Given the description of an element on the screen output the (x, y) to click on. 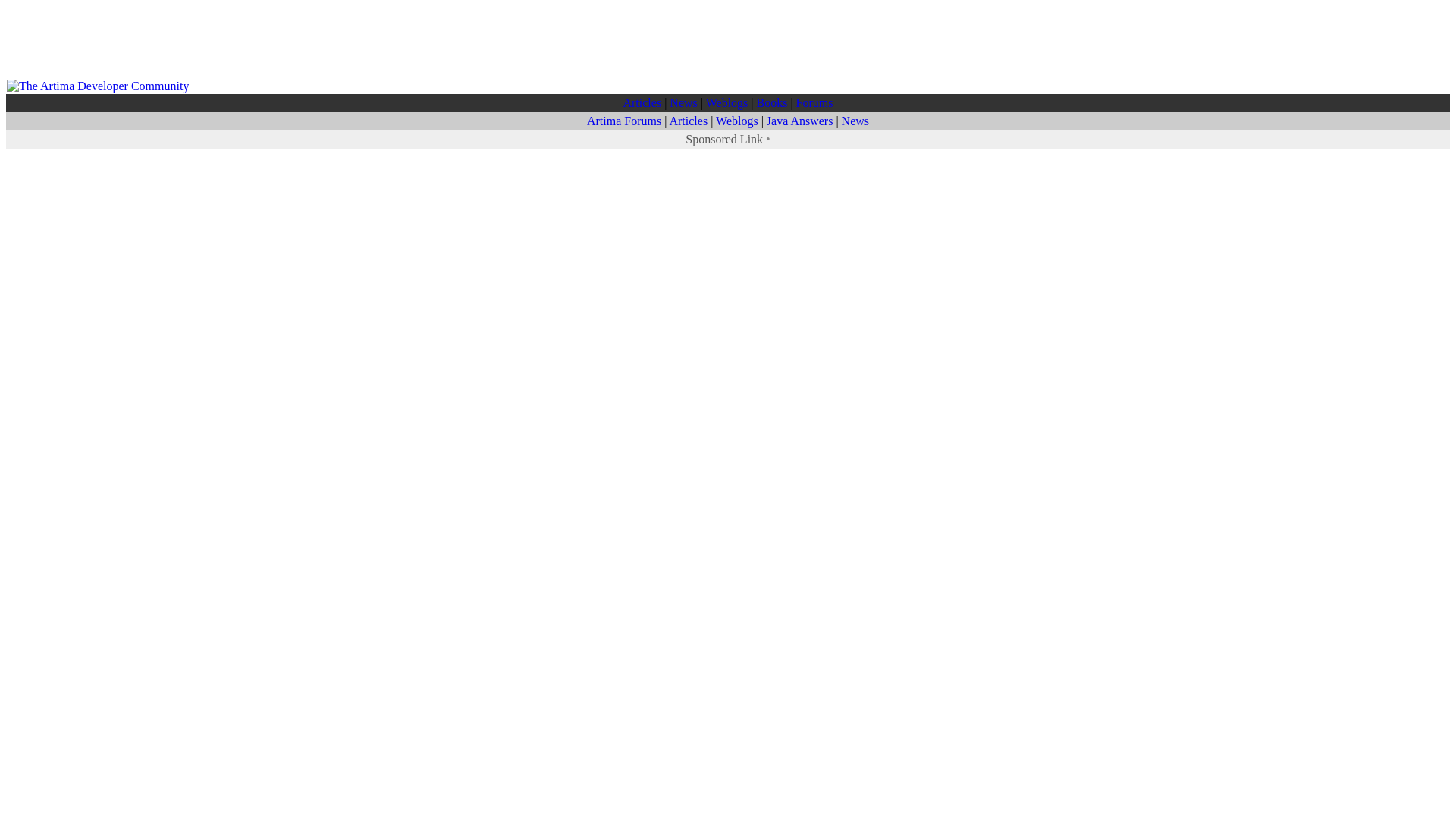
Books (772, 102)
Artima Forums (623, 120)
Weblogs (737, 120)
Weblogs (727, 102)
News (855, 120)
Articles (687, 120)
Articles (642, 102)
News (683, 102)
Forums (814, 102)
Java Answers (799, 120)
